Given the description of an element on the screen output the (x, y) to click on. 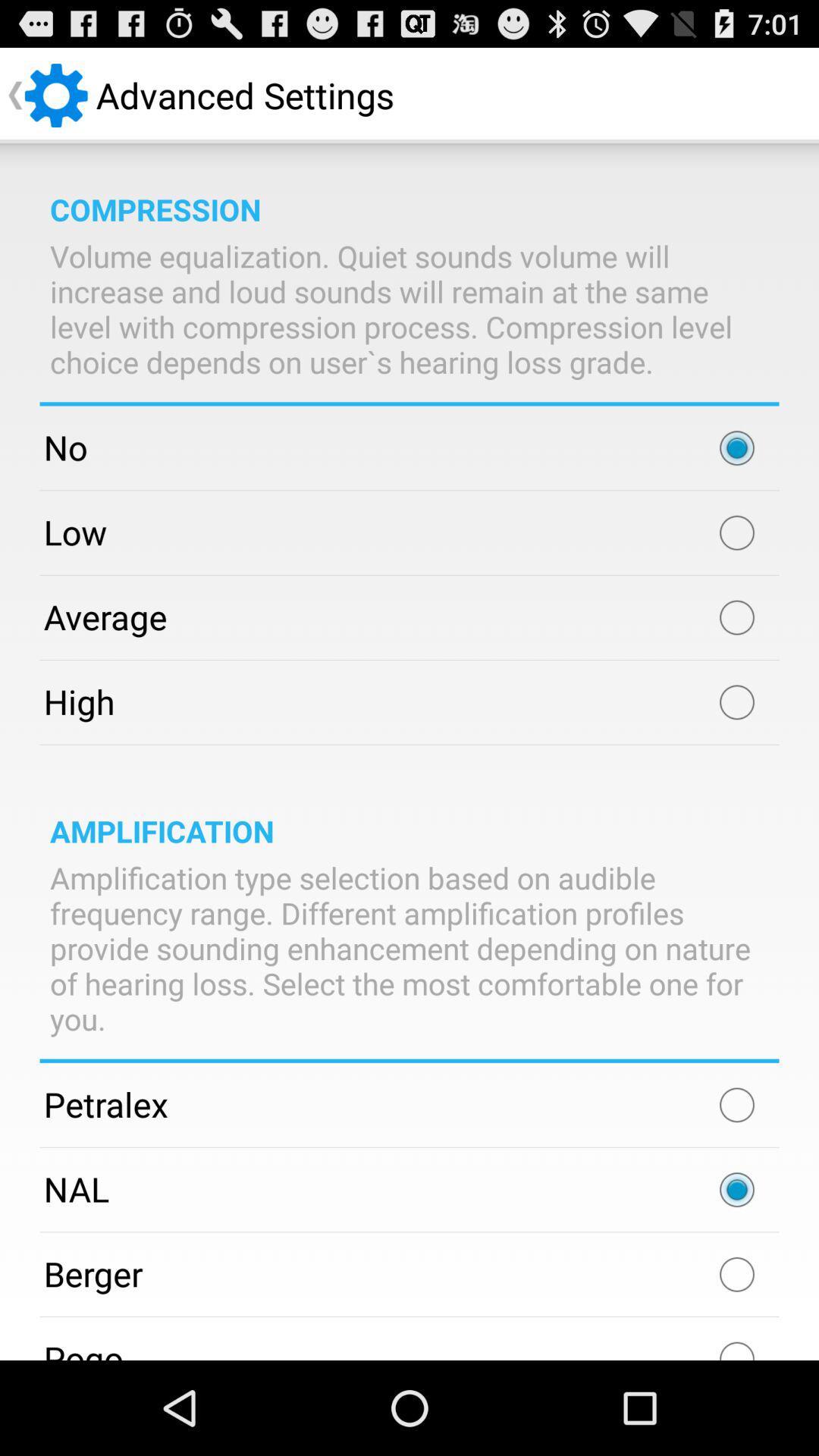
set amplification type to berger (736, 1274)
